Given the description of an element on the screen output the (x, y) to click on. 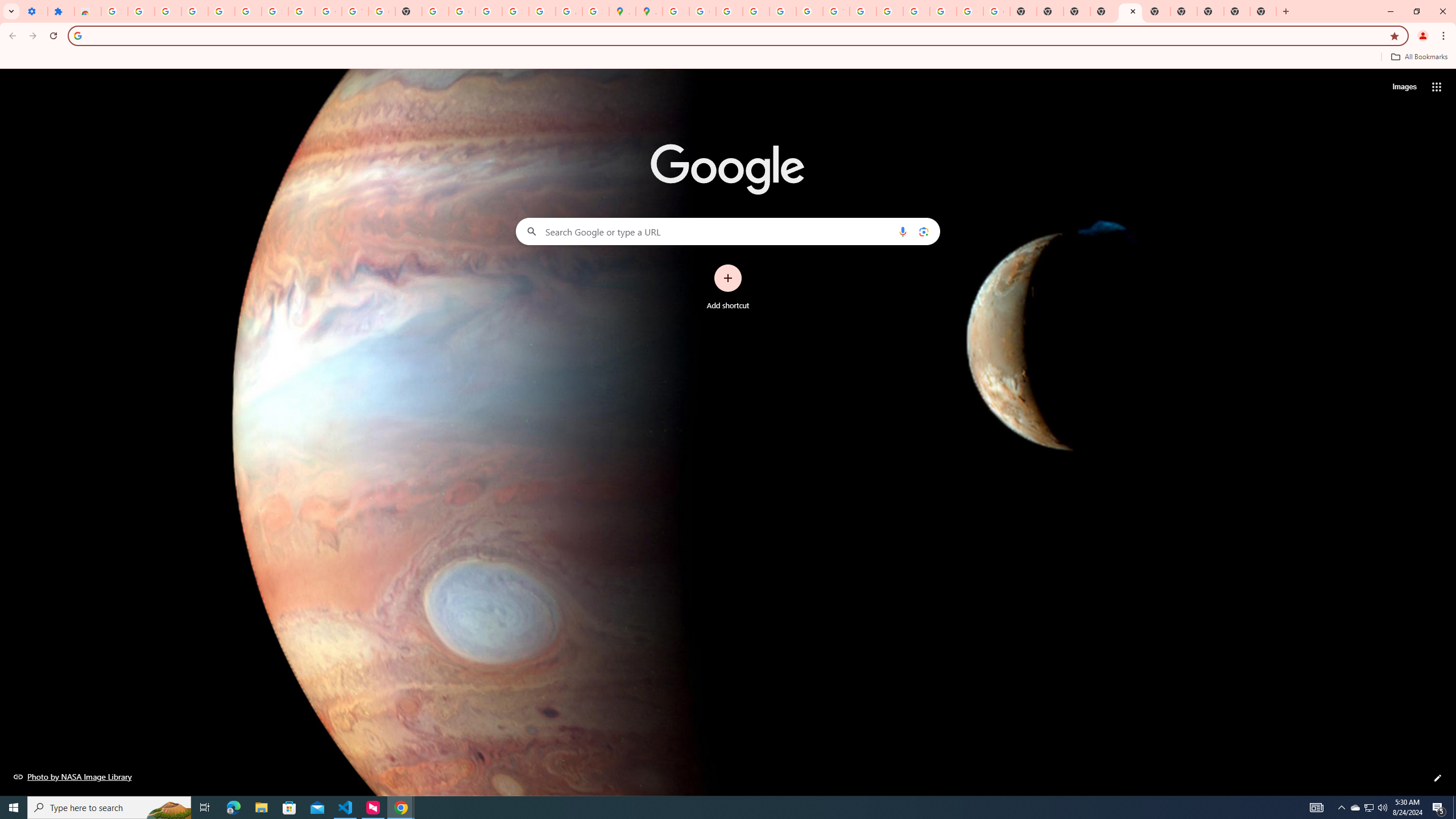
YouTube (836, 11)
Browse Chrome as a guest - Computer - Google Chrome Help (862, 11)
Google Images (996, 11)
Reviews: Helix Fruit Jump Arcade Game (87, 11)
https://scholar.google.com/ (435, 11)
Search for Images  (1403, 87)
Add shortcut (727, 287)
